Given the description of an element on the screen output the (x, y) to click on. 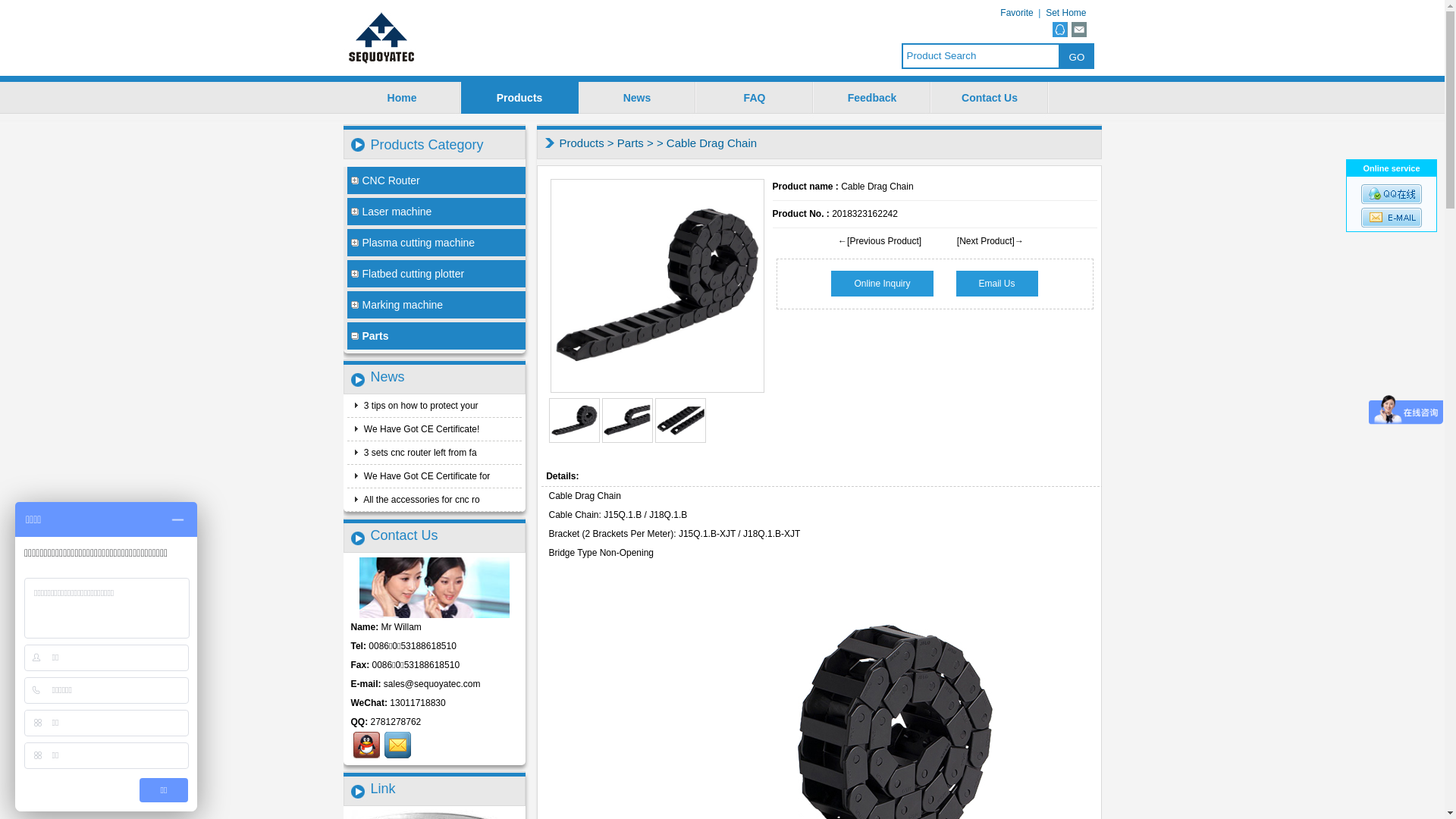
2781278762 Element type: text (395, 721)
Feedback Element type: text (871, 97)
Products Element type: text (519, 97)
Home Element type: text (401, 97)
Contact Us Element type: text (989, 97)
Laser machine Element type: text (436, 211)
 All the accessories for cnc ro Element type: text (420, 499)
Marking machine Element type: text (436, 304)
Cable Drag Chain Element type: hover (574, 420)
QQ:2781278762 Element type: hover (1391, 193)
Cable Drag Chain Element type: hover (627, 420)
News Element type: text (636, 97)
 3 tips on how to protect your Element type: text (419, 405)
Online Inquiry Element type: text (881, 283)
Parts Element type: text (630, 142)
Set Home Element type: text (1065, 12)
Plasma cutting machine Element type: text (436, 242)
 We Have Got CE Certificate for Element type: text (425, 475)
Parts Element type: text (436, 335)
Cable Drag Chain Element type: hover (680, 420)
 GO  Element type: text (1077, 56)
Flatbed cutting plotter Element type: text (436, 273)
FAQ Element type: text (754, 97)
 3 sets cnc router left from fa Element type: text (418, 452)
Call us Element type: hover (366, 744)
E-mail:sales@sequoyatec.com Element type: hover (1391, 217)
 We Have Got CE Certificate! Element type: text (420, 428)
E-mail:sales@sequoyatec.com Element type: hover (397, 744)
sales@sequoyatec.com Element type: text (431, 683)
Email Us Element type: text (997, 283)
CNC Router Element type: text (436, 180)
Cable Drag Chain Element type: hover (656, 285)
Favorite Element type: text (1016, 12)
Products Element type: text (581, 142)
